Given the description of an element on the screen output the (x, y) to click on. 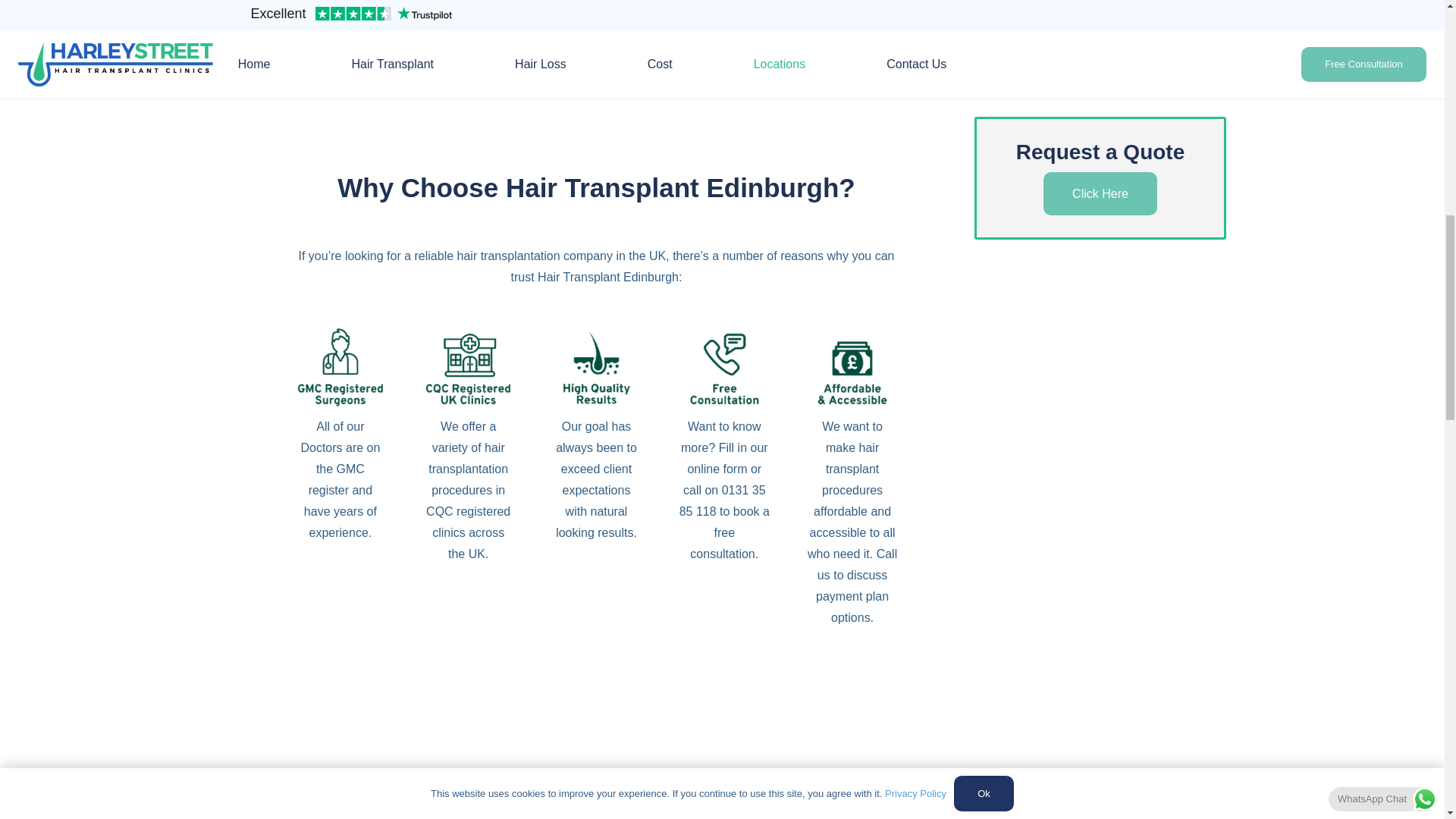
Hair Transplant Locations 3 (596, 370)
Hair Transplant Locations 5 (852, 370)
View Clinic (595, 25)
Hair Transplant Locations 2 (467, 370)
View Clinic (362, 25)
Hair Transplant Locations 1 (339, 370)
Hair Transplant Locations 4 (724, 370)
